Given the description of an element on the screen output the (x, y) to click on. 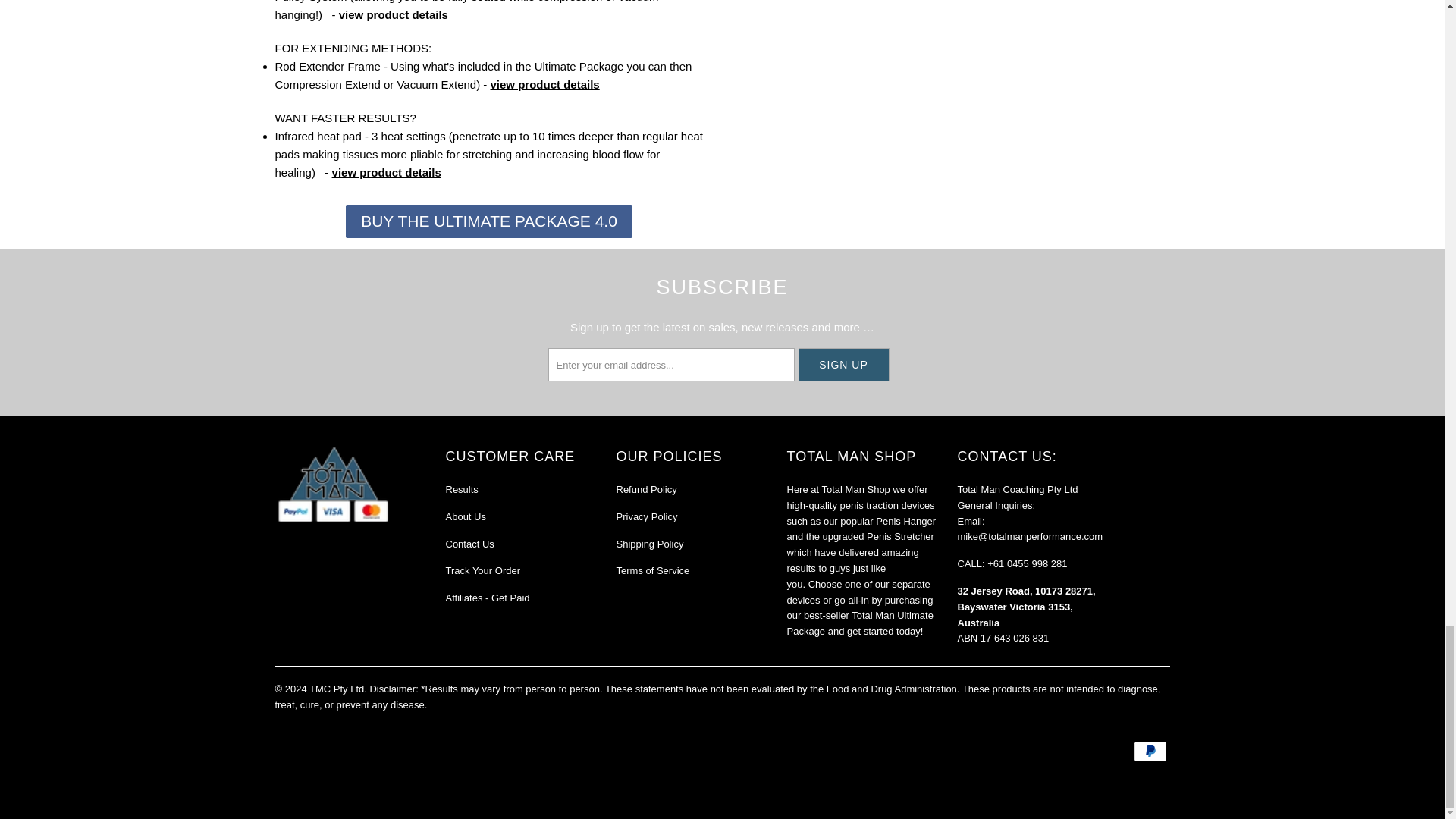
PayPal (1150, 751)
Privacy Policy (646, 516)
Refund Policy (646, 489)
Shipping Policy (648, 543)
Sign Up (842, 364)
Terms of Service (651, 570)
